Given the description of an element on the screen output the (x, y) to click on. 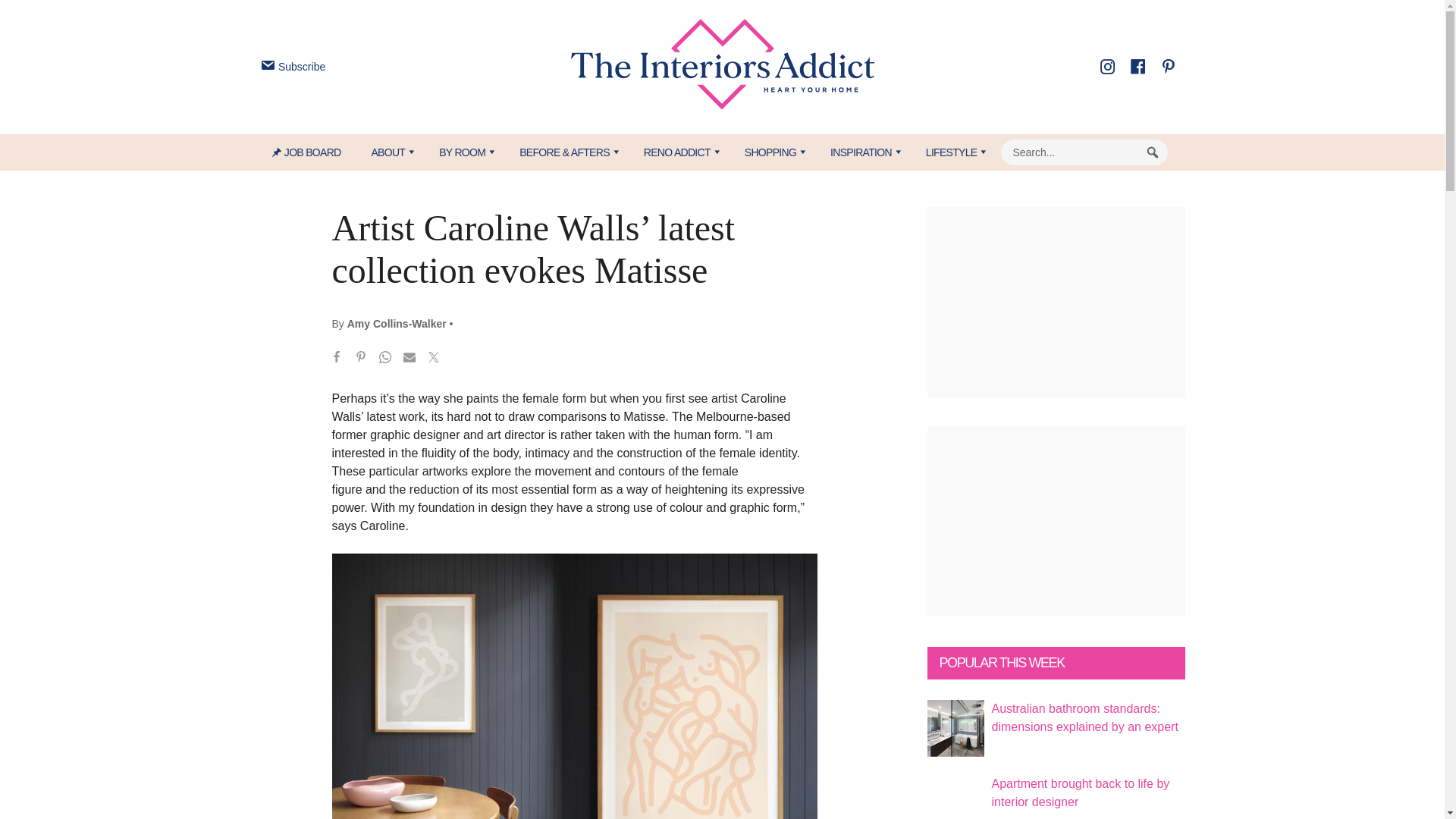
Search (1152, 151)
Share on Twitter (433, 359)
Subscribe (291, 66)
Share on Pinterest (360, 359)
Share on Facebook (336, 359)
ABOUT (389, 152)
BY ROOM (463, 152)
Share via Email (409, 359)
YES PLEASE! (793, 294)
